Given the description of an element on the screen output the (x, y) to click on. 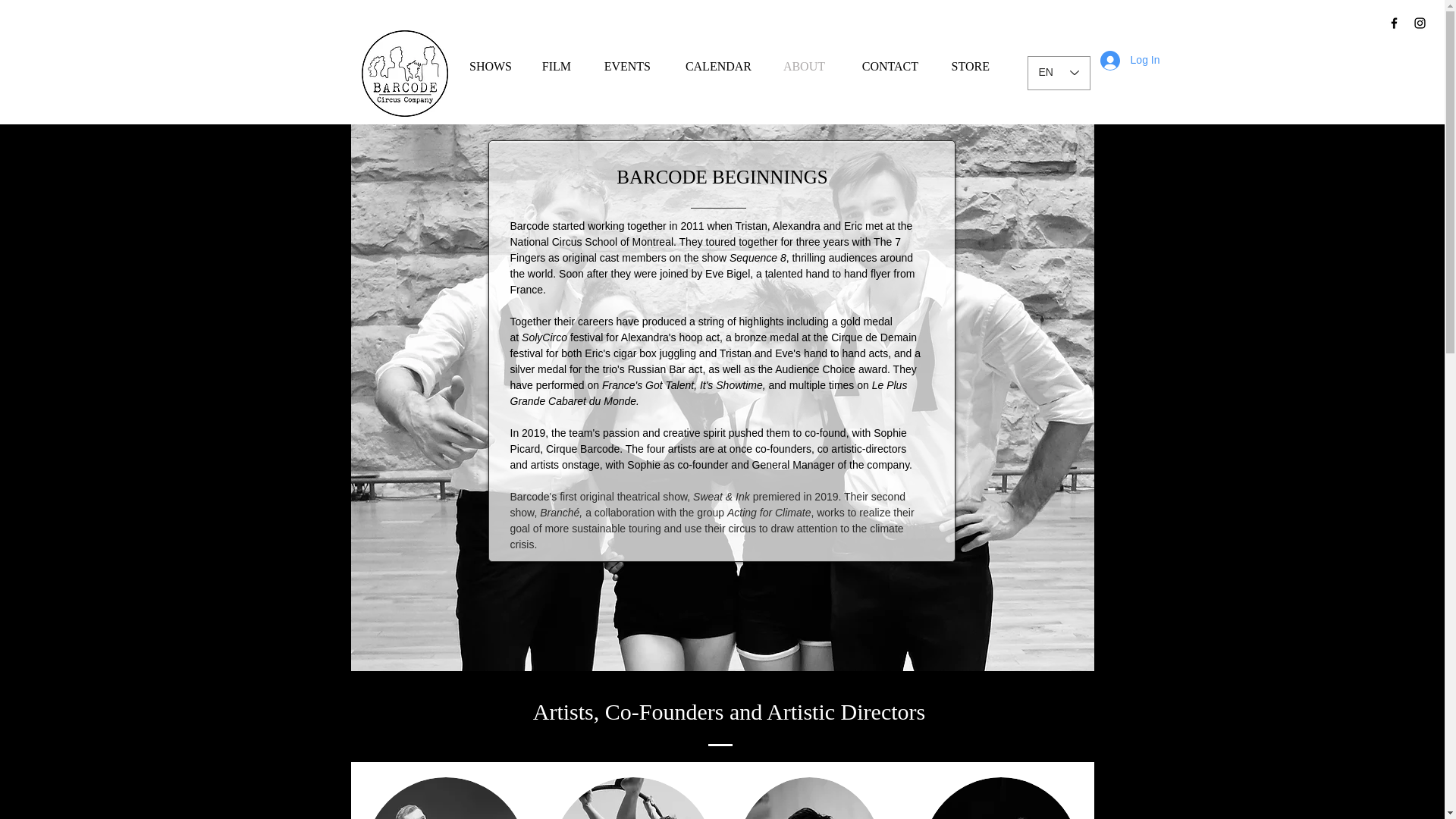
CALENDAR (711, 66)
Log In (1129, 60)
Embedded Content (328, 82)
STORE (963, 66)
CONTACT (881, 66)
ABOUT (797, 66)
EVENTS (620, 66)
SHOWS (483, 66)
FILM (550, 66)
